Given the description of an element on the screen output the (x, y) to click on. 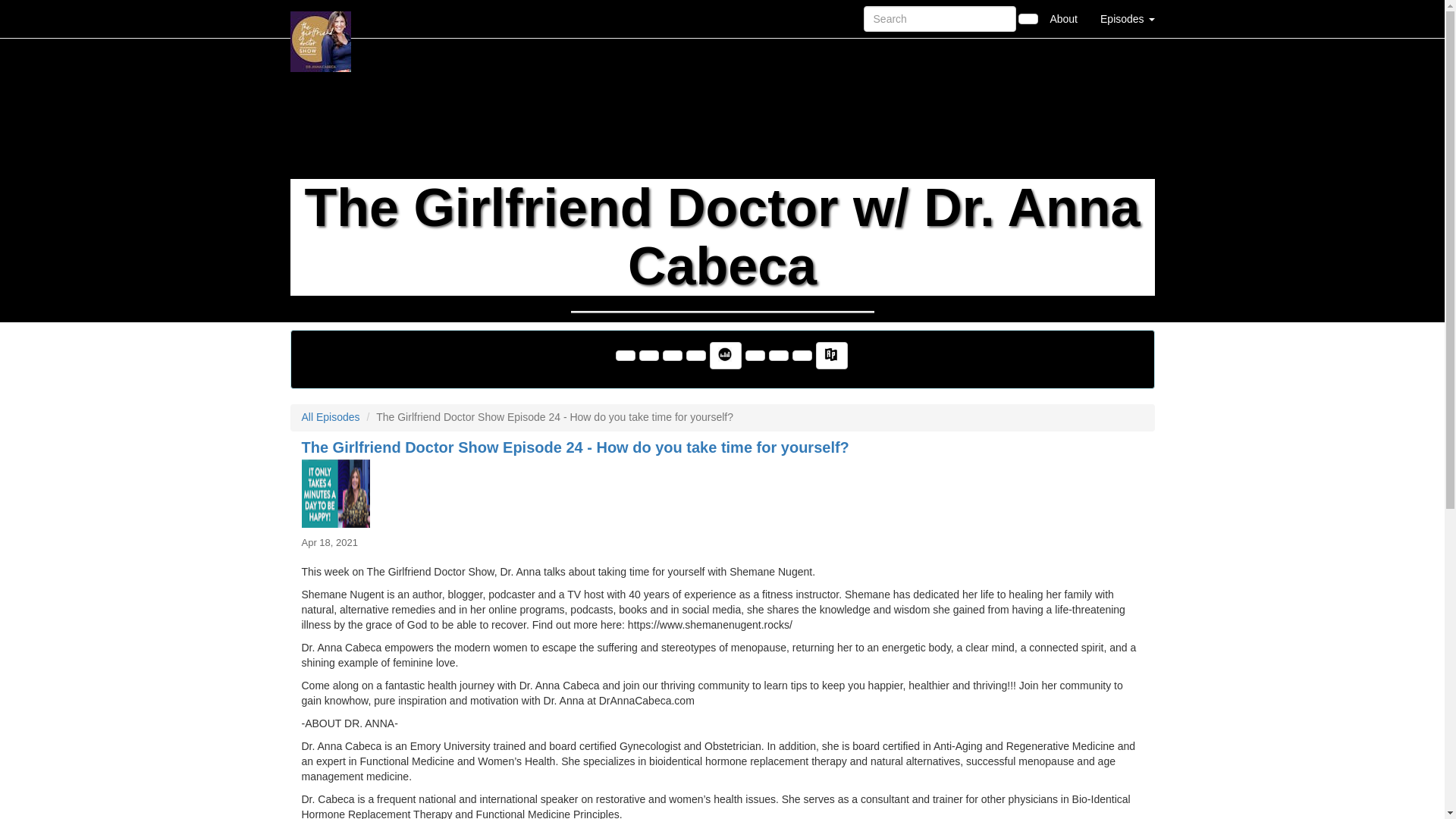
Episodes (1127, 18)
Home Page (320, 18)
About (1063, 18)
